Given the description of an element on the screen output the (x, y) to click on. 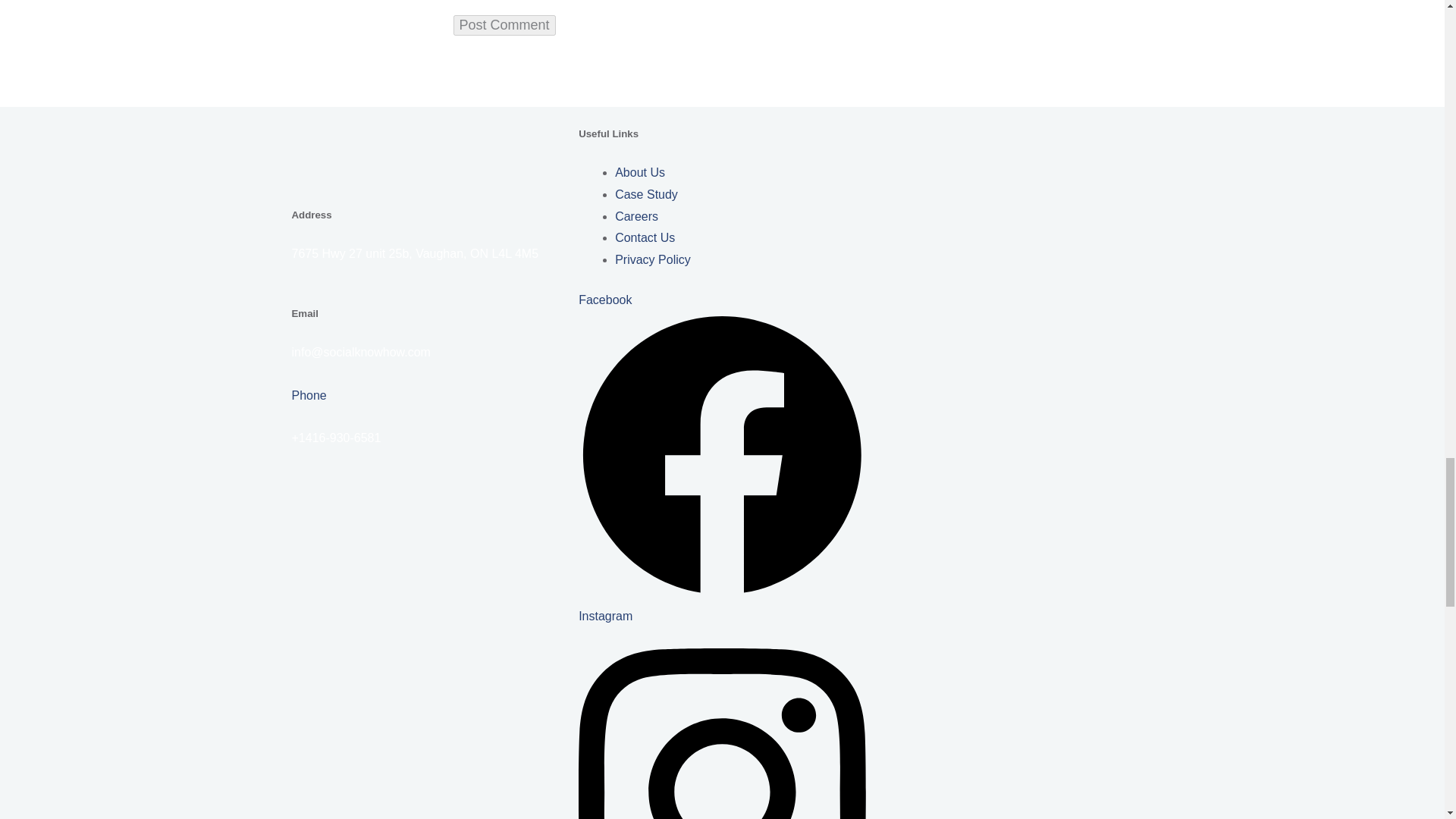
Post Comment (504, 25)
Meta Business Partner Badge (435, 618)
bbb (434, 527)
Certified Partner 2023-2024 (435, 713)
